Given the description of an element on the screen output the (x, y) to click on. 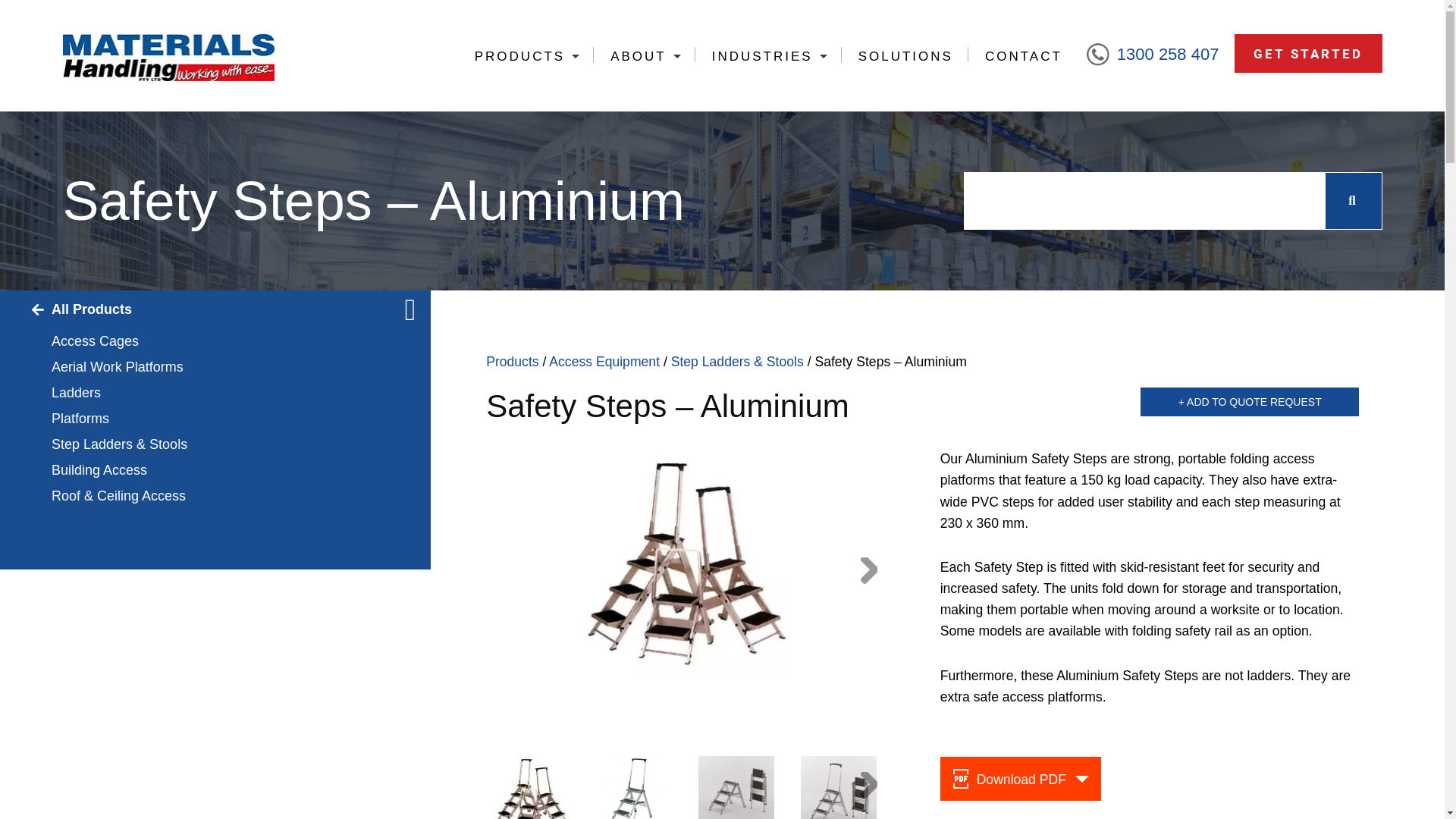
SOLUTIONS Element type: text (904, 55)
Step Ladders & Stools Element type: text (215, 444)
All Products Element type: text (215, 309)
Aluminium Safety Steps Element type: hover (685, 561)
+ ADD TO QUOTE REQUEST Element type: text (1249, 401)
CONTACT Element type: text (1022, 55)
Access Cages Element type: text (215, 341)
ABOUT Element type: text (644, 55)
Platforms Element type: text (215, 418)
Download PDF Element type: text (1020, 778)
Next Element type: text (867, 786)
Building Access Element type: text (215, 470)
Roof & Ceiling Access Element type: text (215, 495)
Access Equipment Element type: text (604, 361)
GET STARTED Element type: text (1307, 53)
Step Ladders & Stools Element type: text (737, 361)
Ladders Element type: text (215, 392)
INDUSTRIES Element type: text (767, 55)
PRODUCTS Element type: text (525, 55)
Next Element type: text (867, 572)
1300 258 407 Element type: text (1160, 54)
Aerial Work Platforms Element type: text (215, 366)
1300 258 407 Element type: text (1168, 53)
Products Element type: text (512, 361)
